Given the description of an element on the screen output the (x, y) to click on. 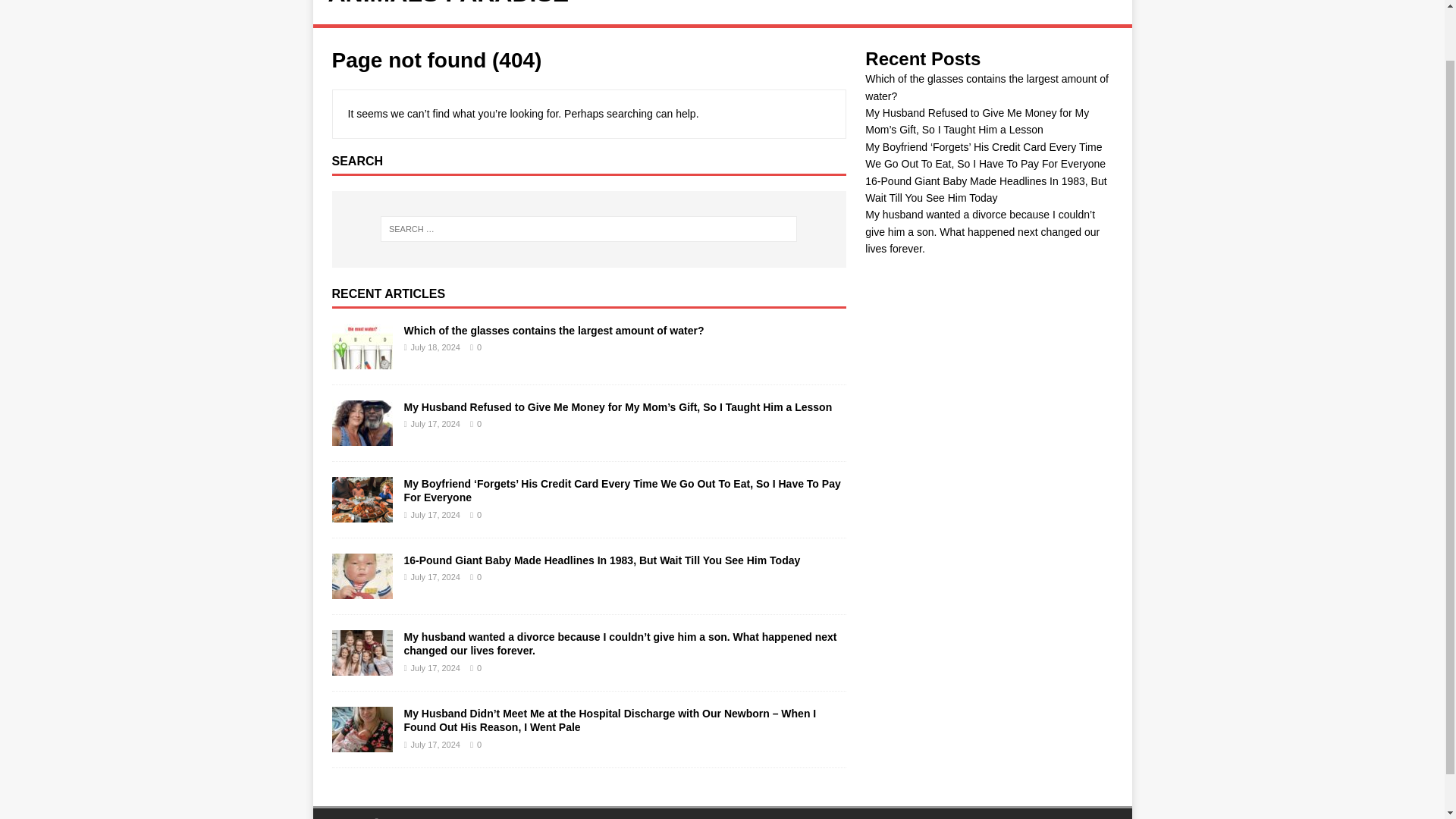
Which of the glasses contains the largest amount of water? (362, 360)
Which of the glasses contains the largest amount of water? (553, 330)
Which of the glasses contains the largest amount of water? (553, 330)
Which of the glasses contains the largest amount of water? (986, 86)
